Given the description of an element on the screen output the (x, y) to click on. 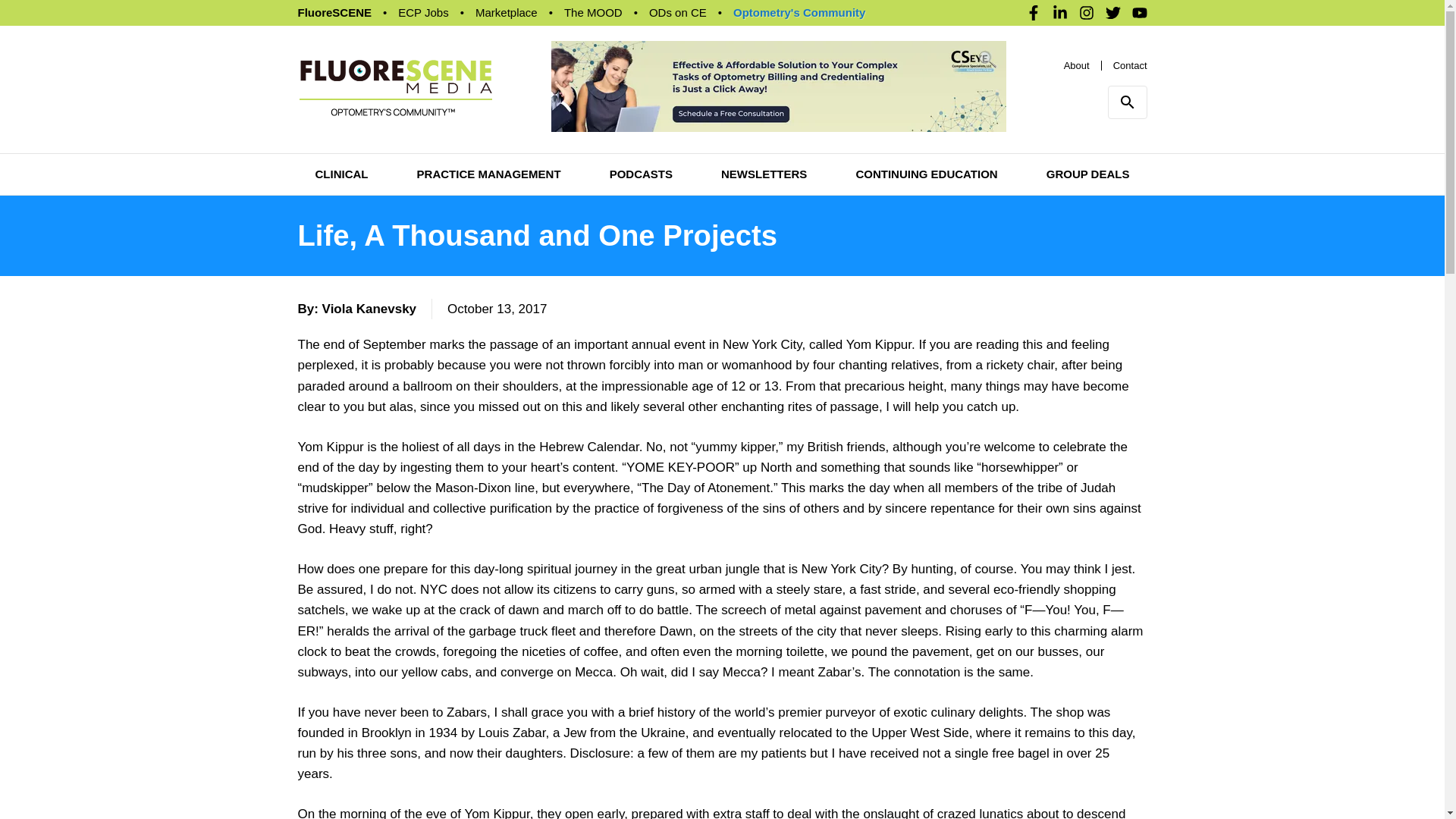
Optometry's Community (798, 11)
ODs on CE (677, 11)
CONTINUING EDUCATION (926, 173)
Contact (1130, 64)
GROUP DEALS (1088, 173)
PODCASTS (641, 173)
About (1076, 64)
The MOOD (593, 11)
PRACTICE MANAGEMENT (488, 173)
ECP Jobs (422, 11)
